Given the description of an element on the screen output the (x, y) to click on. 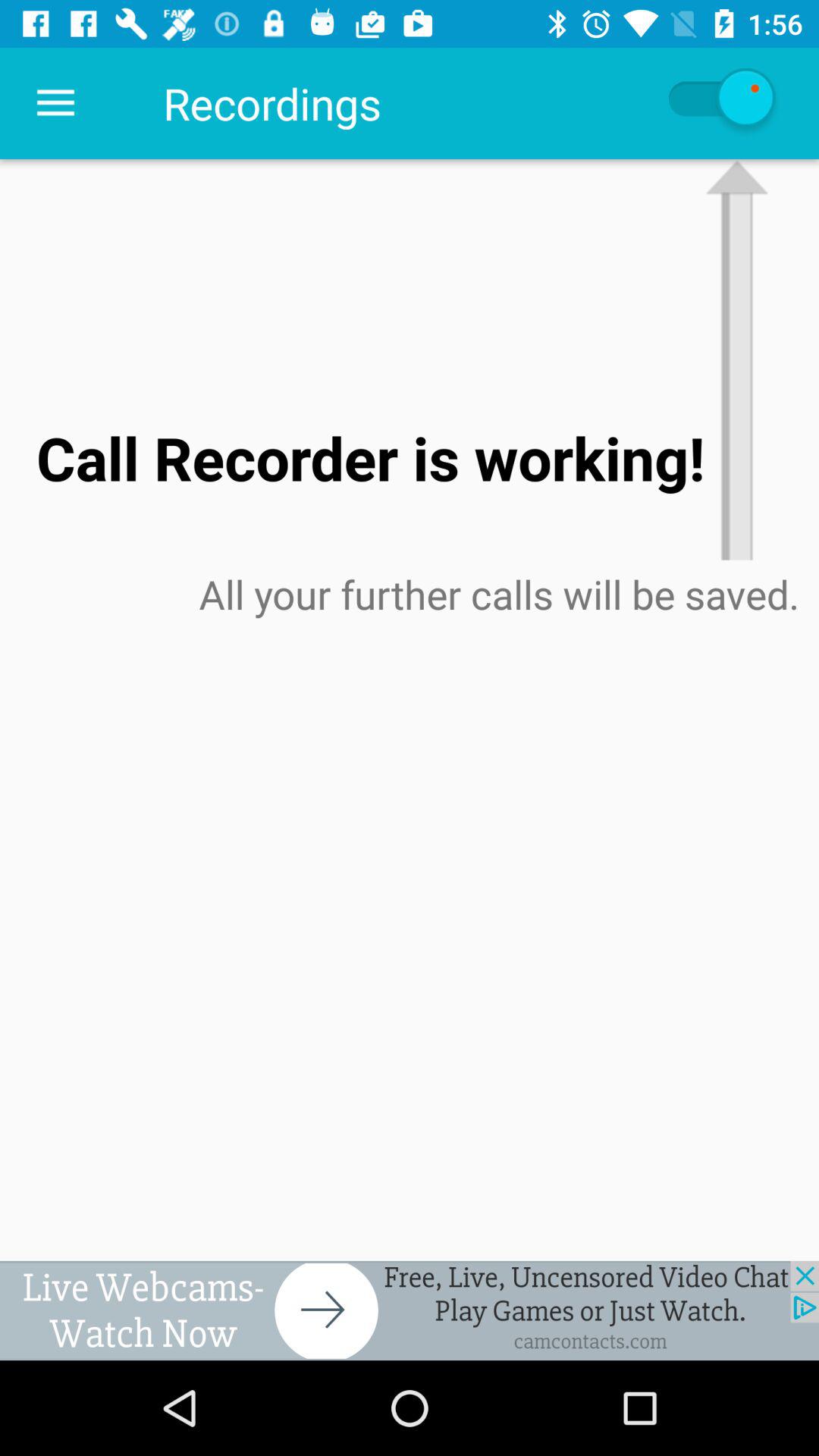
advertisement (409, 1310)
